Given the description of an element on the screen output the (x, y) to click on. 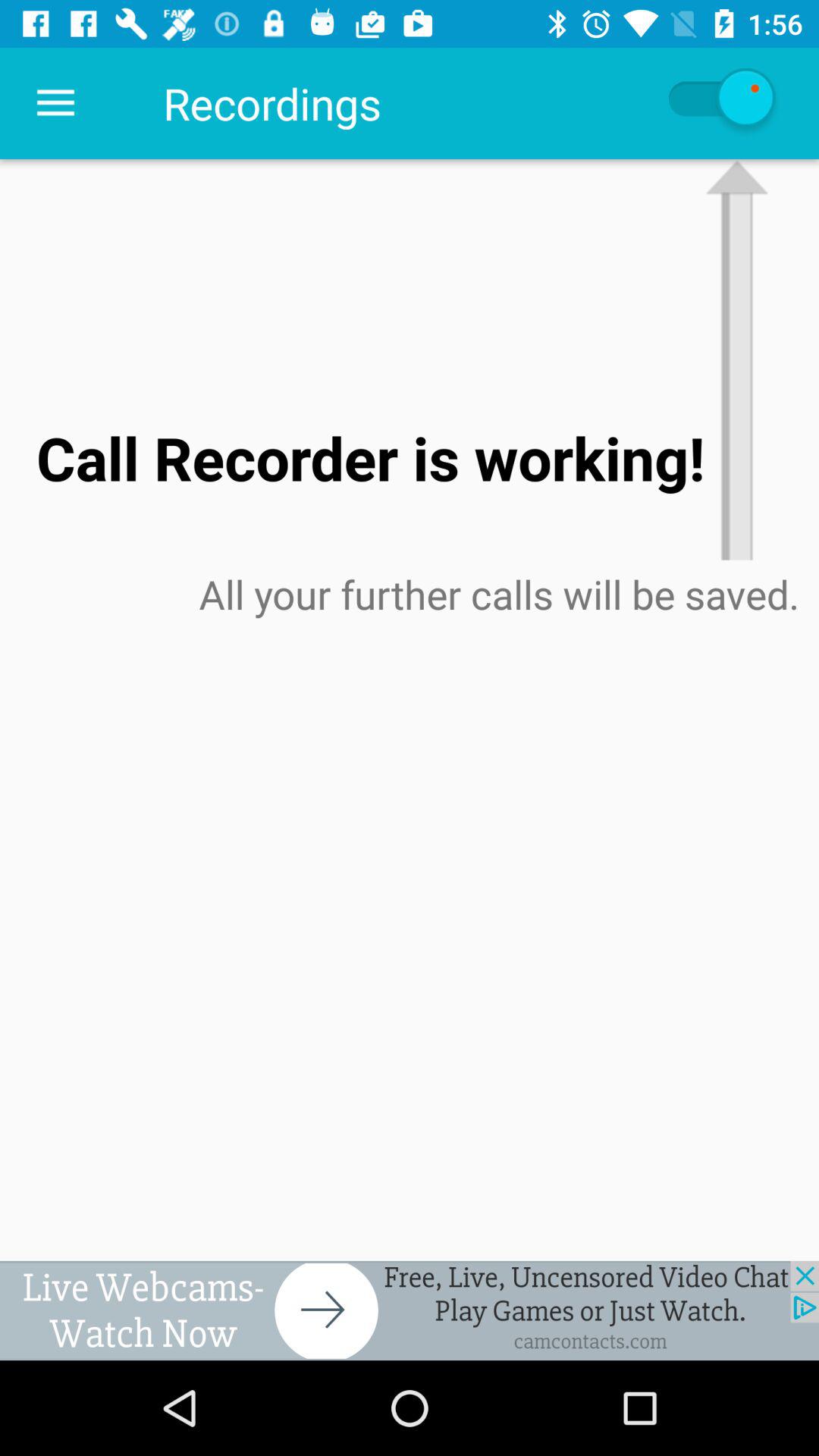
advertisement (409, 1310)
